Given the description of an element on the screen output the (x, y) to click on. 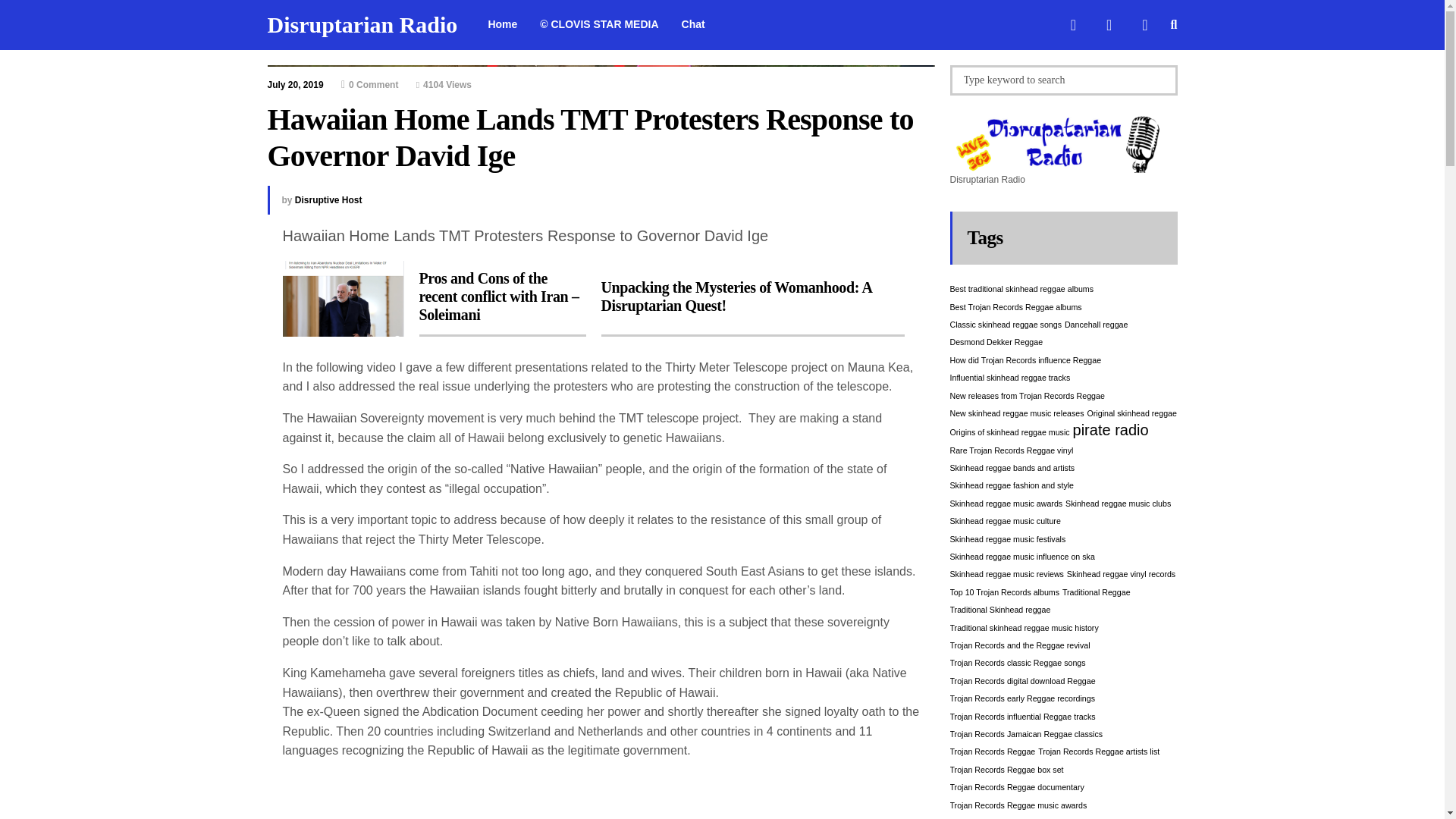
0 Comment (368, 84)
Type keyword to search (1062, 80)
Type keyword to search (1062, 80)
Disruptive Host (328, 199)
Unpacking the Mysteries of Womanhood: A Disruptarian Quest! (751, 298)
Disruptarian Radio (361, 24)
